Given the description of an element on the screen output the (x, y) to click on. 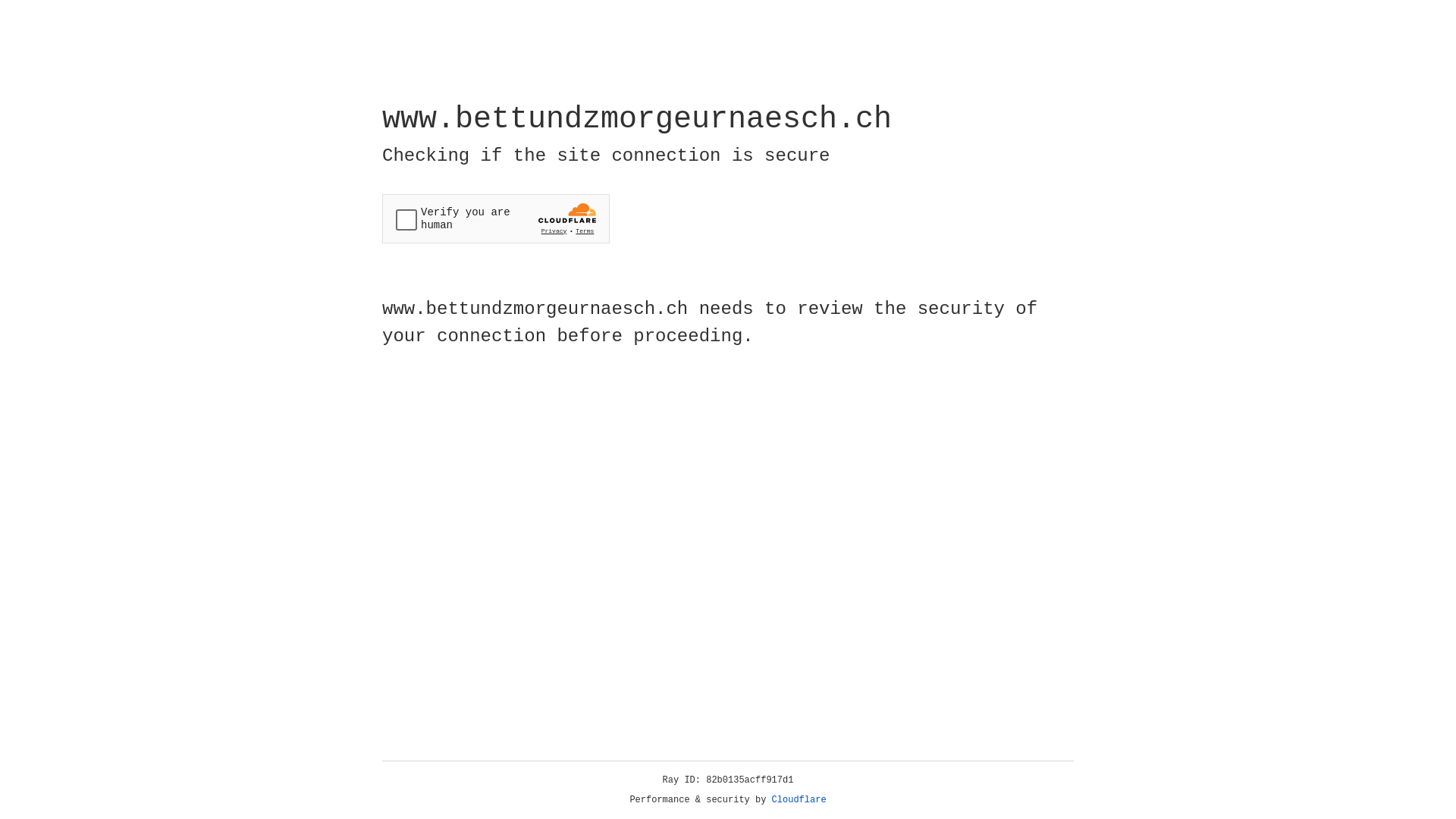
Cloudflare Element type: text (798, 799)
Widget containing a Cloudflare security challenge Element type: hover (495, 218)
